Given the description of an element on the screen output the (x, y) to click on. 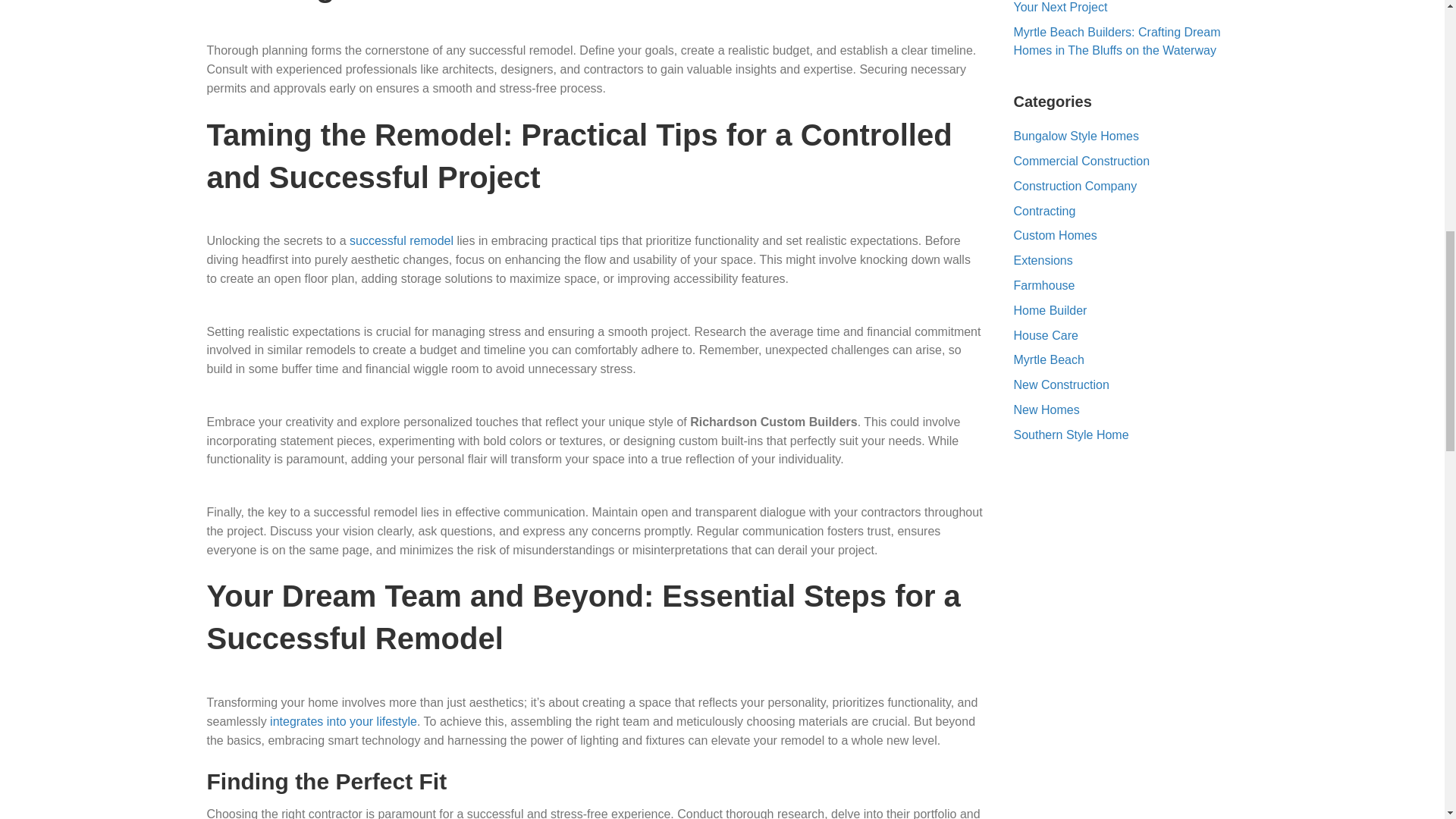
integrates into your lifestyle (342, 721)
Bungalow Style Homes (1075, 135)
Commercial Construction (1081, 160)
successful remodel (400, 240)
Top Builders in Myrtle Beach, SC, for Your Next Project (1112, 6)
